Given the description of an element on the screen output the (x, y) to click on. 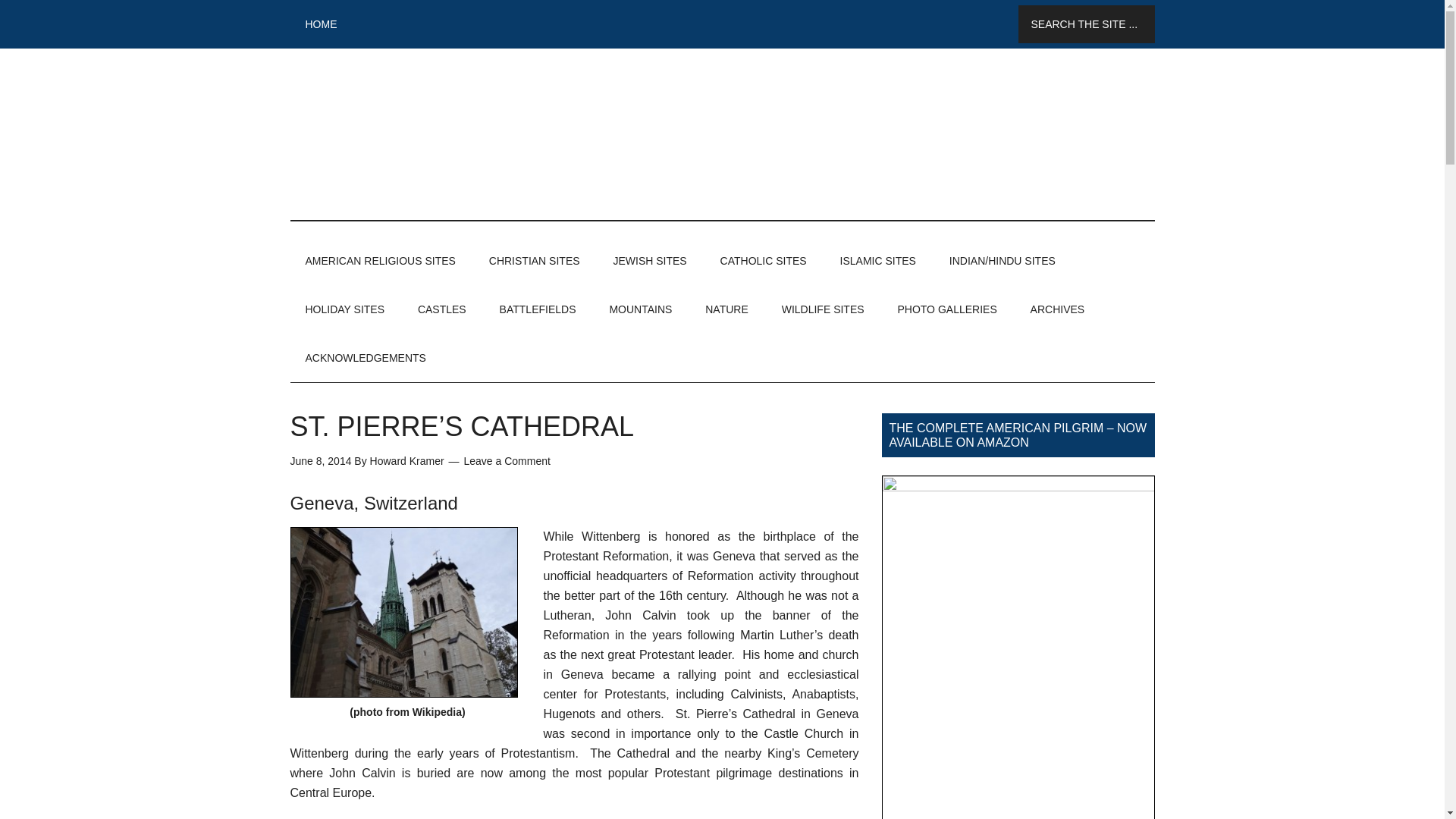
PHOTO GALLERIES (946, 309)
HOME (320, 24)
HOLIDAY SITES (343, 309)
ACKNOWLEDGEMENTS (365, 357)
ARCHIVES (1057, 309)
MOUNTAINS (640, 309)
BATTLEFIELDS (537, 309)
CATHOLIC SITES (763, 260)
CHRISTIAN SITES (534, 260)
